Given the description of an element on the screen output the (x, y) to click on. 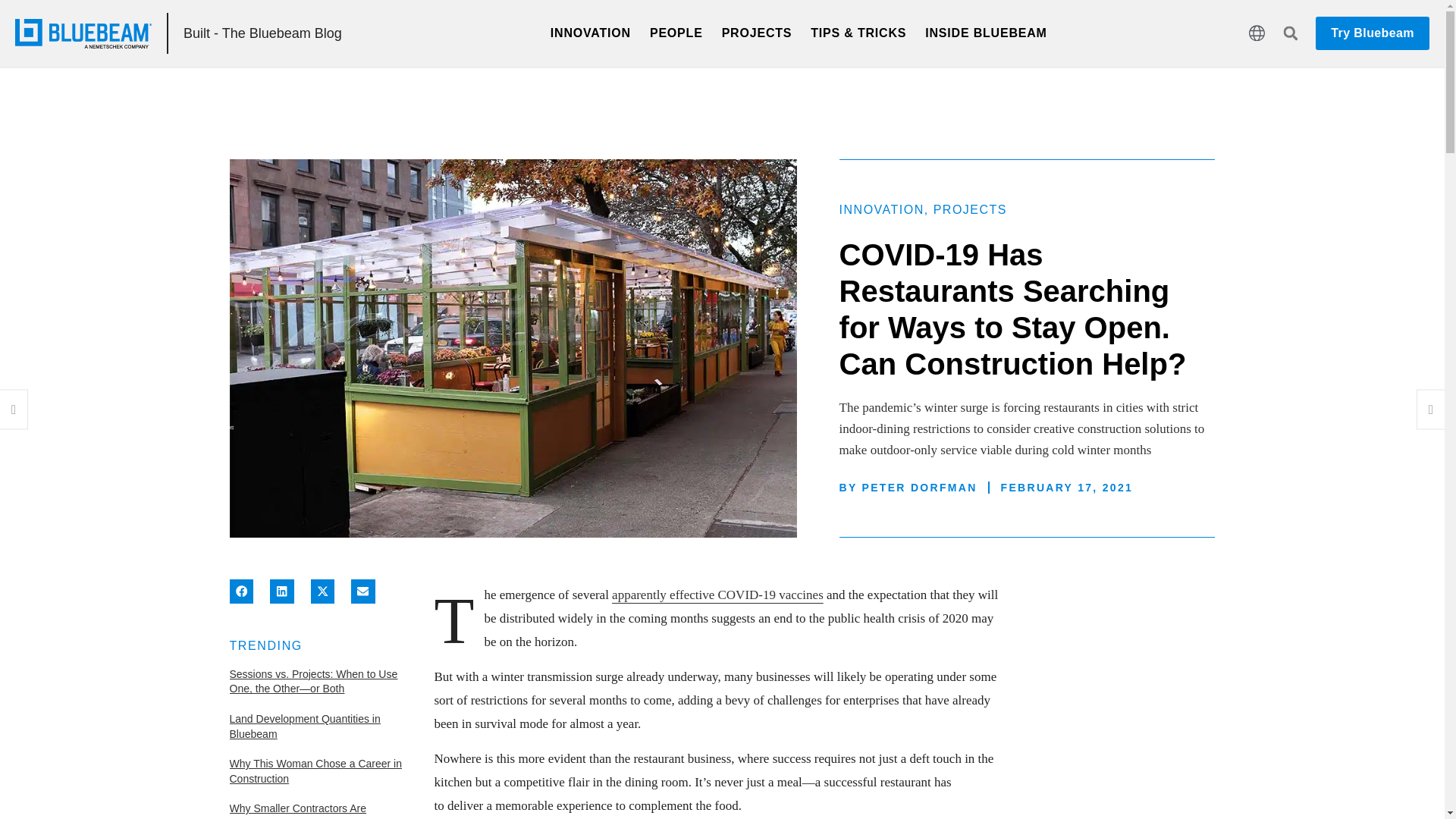
INNOVATION (590, 32)
Try Bluebeam (1372, 32)
BY PETER DORFMAN (908, 487)
apparently effective COVID-19 vaccines (717, 594)
PROJECTS (757, 32)
PROJECTS (970, 209)
PEOPLE (676, 32)
INSIDE BLUEBEAM (985, 32)
INNOVATION (882, 209)
